Given the description of an element on the screen output the (x, y) to click on. 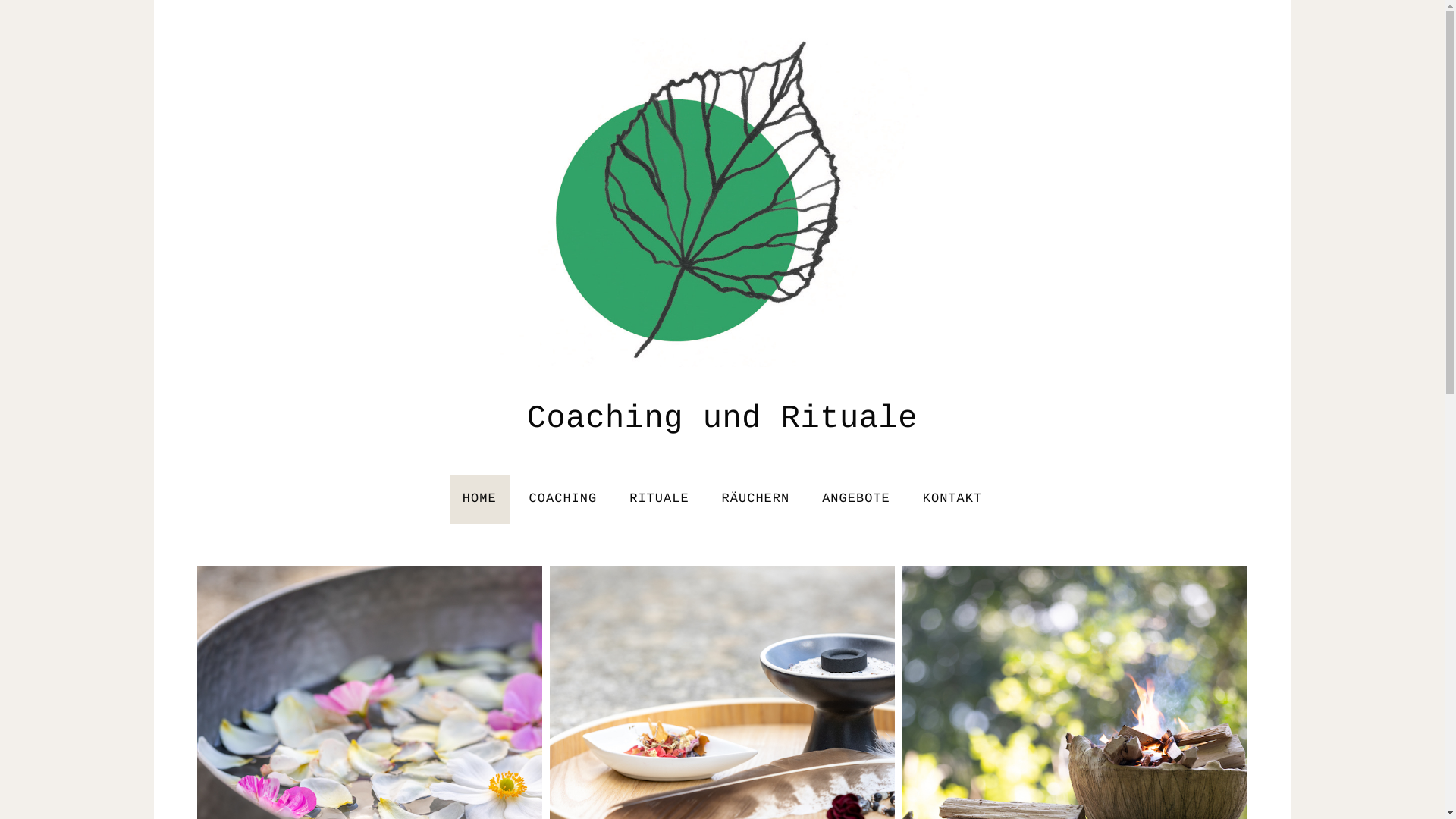
ANGEBOTE Element type: text (856, 498)
KONTAKT Element type: text (952, 498)
HOME Element type: text (479, 498)
RITUALE Element type: text (658, 498)
Coaching und Rituale Element type: hover (722, 202)
Coaching und Rituale Element type: text (722, 421)
COACHING Element type: text (563, 498)
